Given the description of an element on the screen output the (x, y) to click on. 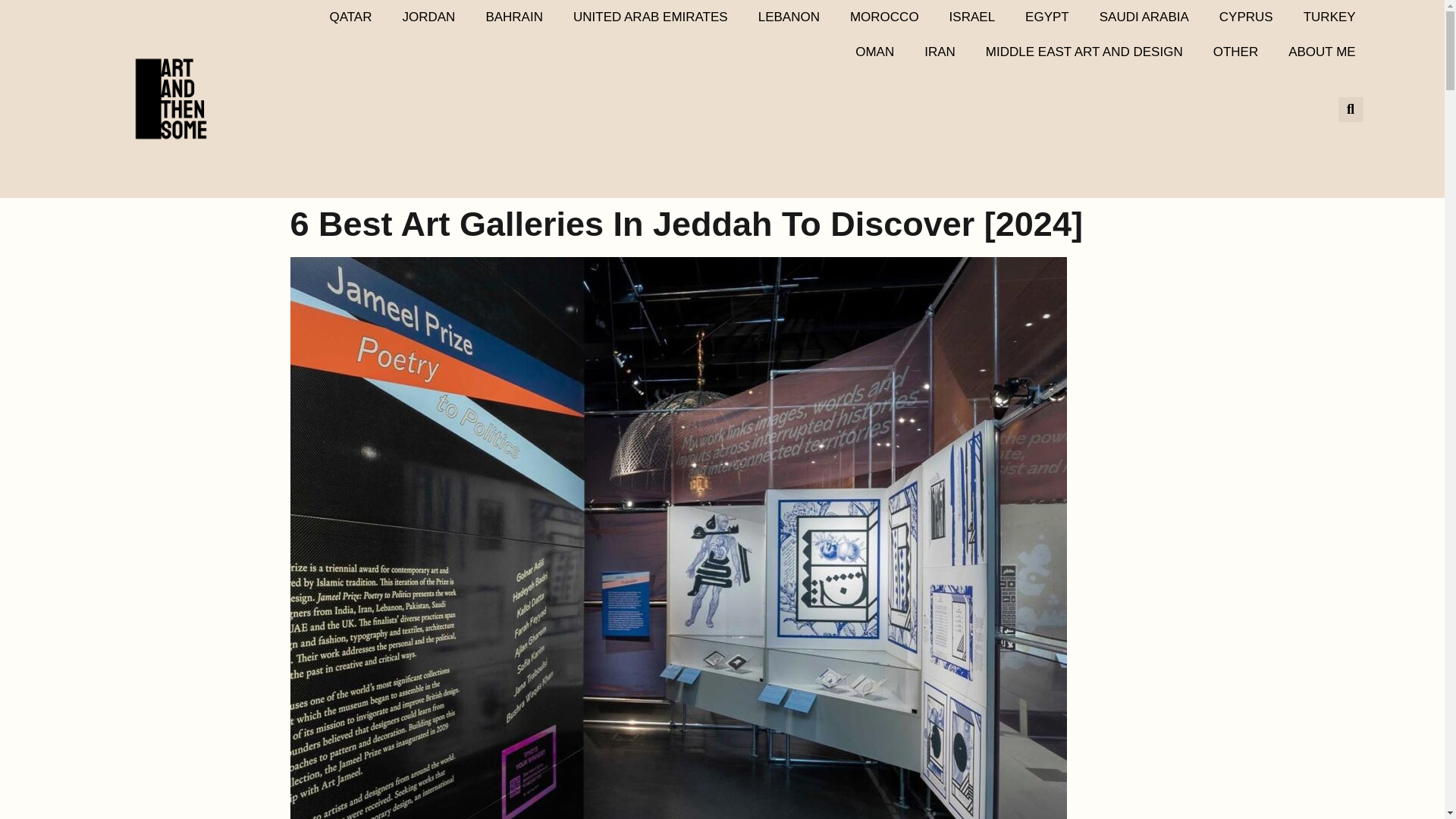
MOROCCO (884, 17)
CYPRUS (1246, 17)
UNITED ARAB EMIRATES (649, 17)
JORDAN (428, 17)
BAHRAIN (513, 17)
QATAR (350, 17)
OTHER (1236, 52)
IRAN (939, 52)
SAUDI ARABIA (1144, 17)
MIDDLE EAST ART AND DESIGN (1084, 52)
